Given the description of an element on the screen output the (x, y) to click on. 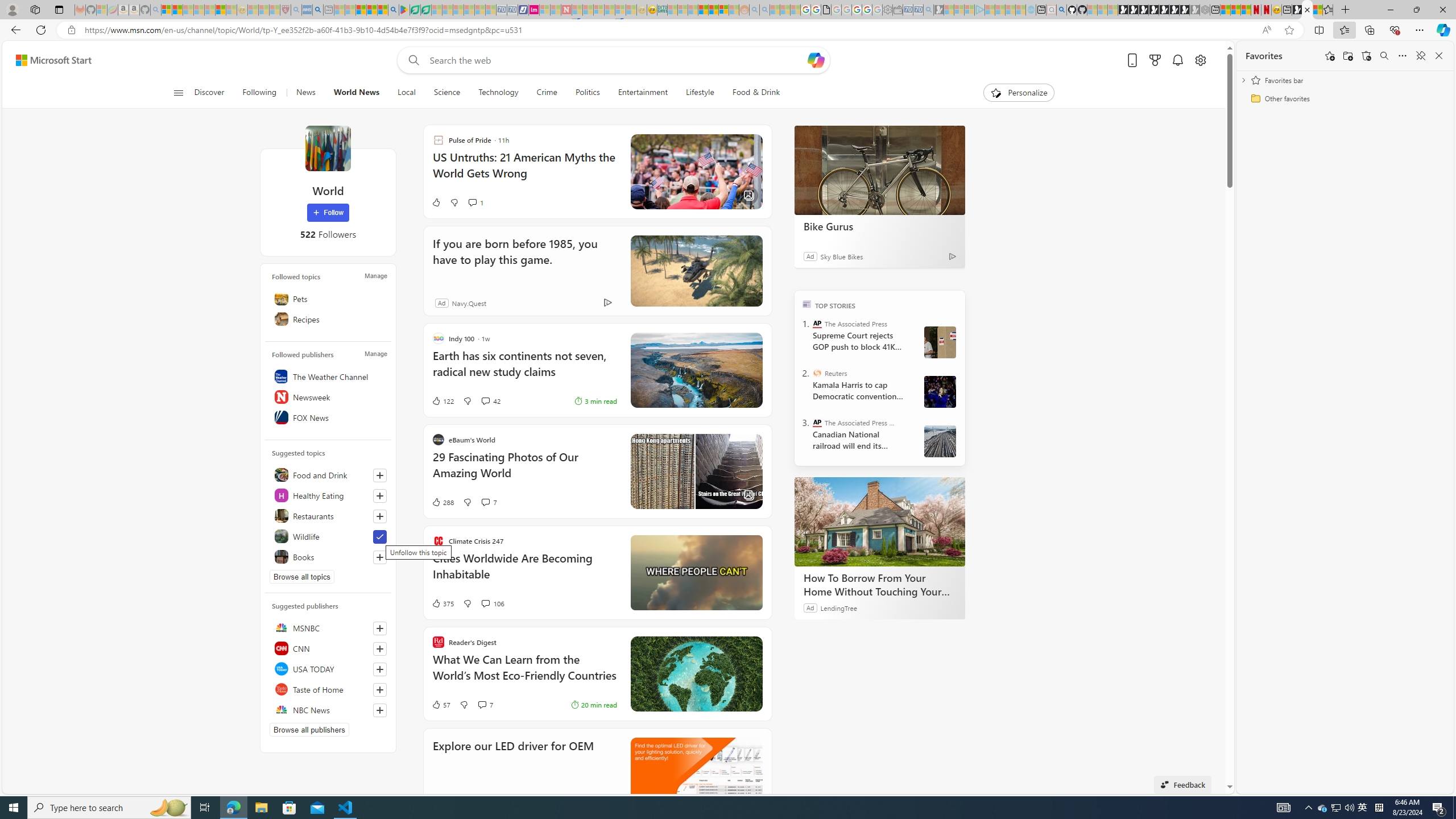
 Canada Railroads Unions (940, 441)
Bluey: Let's Play! - Apps on Google Play (404, 9)
Terms of Use Agreement (414, 9)
Books (327, 556)
If you are born before 1985, you have to play this game. (696, 270)
